Given the description of an element on the screen output the (x, y) to click on. 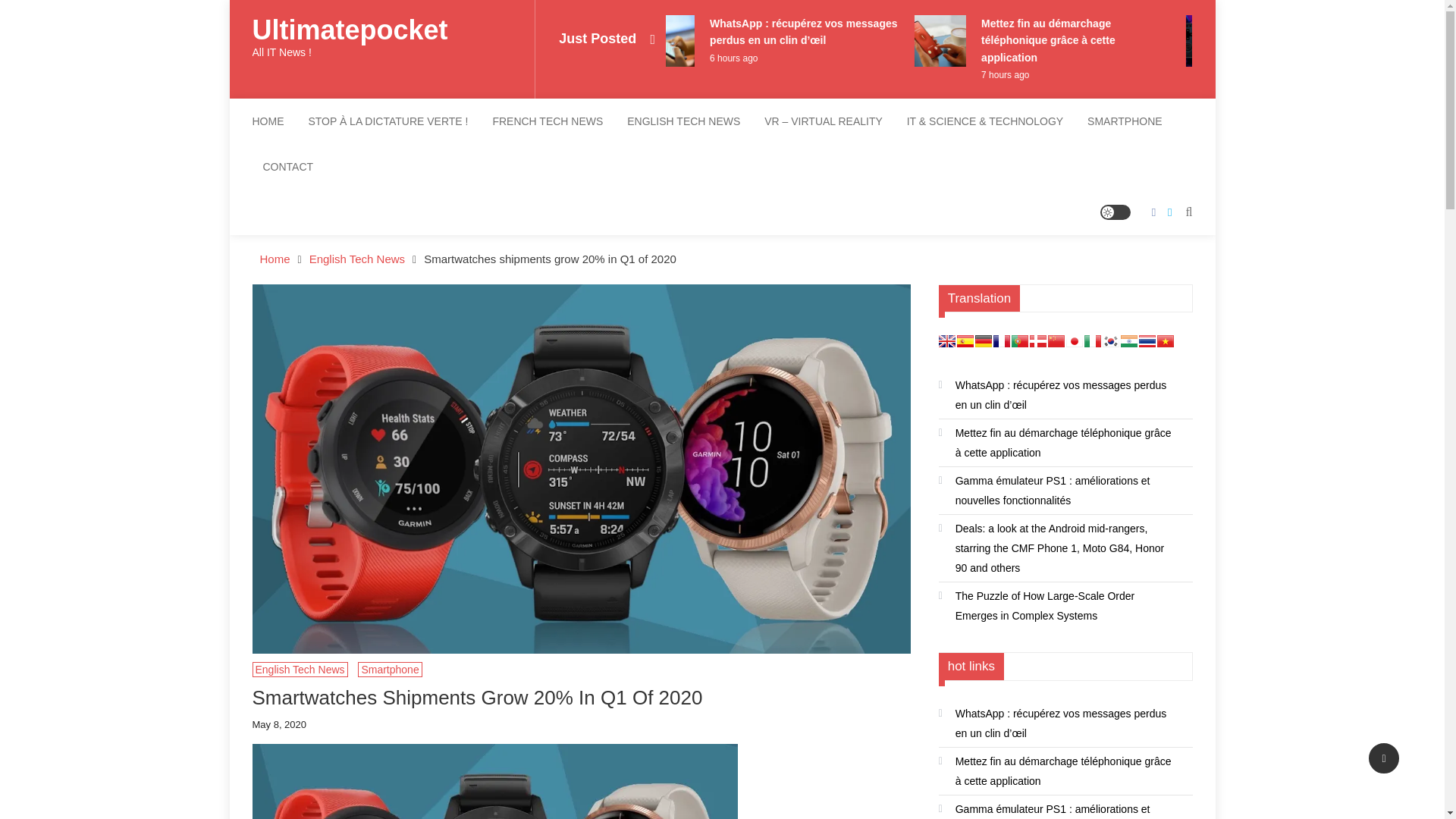
English Tech News (356, 258)
Ultimatepocket (348, 29)
SMARTPHONE (1125, 121)
7 hours ago (1027, 74)
CONTACT (287, 166)
Smartphone (390, 669)
Spanish (965, 340)
34548-original (493, 781)
HOME (272, 121)
French (1001, 340)
Home (274, 258)
English (947, 340)
FRENCH TECH NEWS (546, 121)
English Tech News (299, 669)
Search (29, 12)
